Given the description of an element on the screen output the (x, y) to click on. 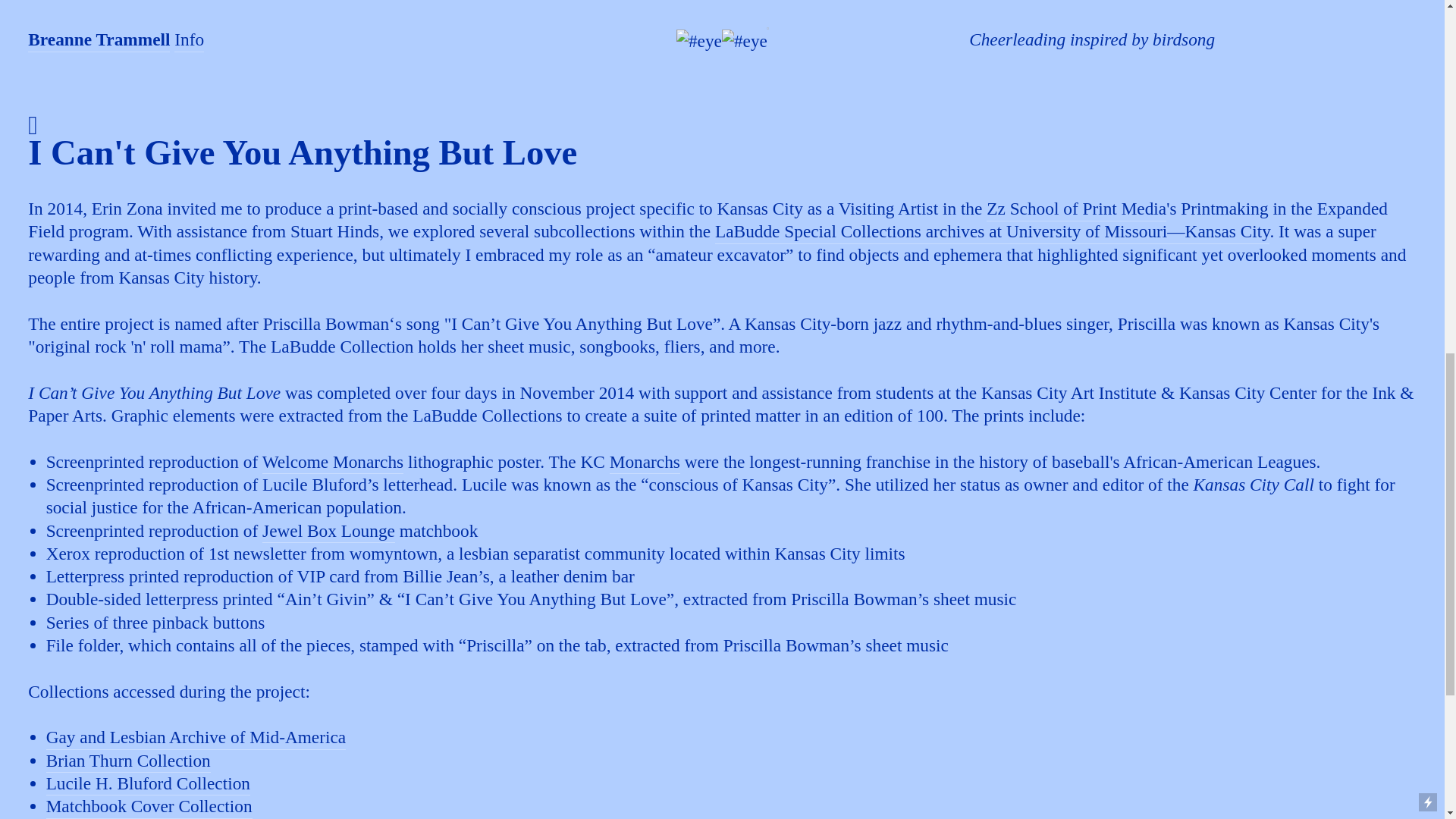
Zz School of Print Media (1076, 209)
Welcome Monarchs (333, 463)
Matchbook Cover Collection (148, 807)
Jewel Box Lounge (328, 531)
Lucile H. Bluford Collection (148, 784)
Monarchs (644, 463)
Gay and Lesbian Archive of Mid-America (196, 738)
Brian Thurn Collection (128, 762)
